Given the description of an element on the screen output the (x, y) to click on. 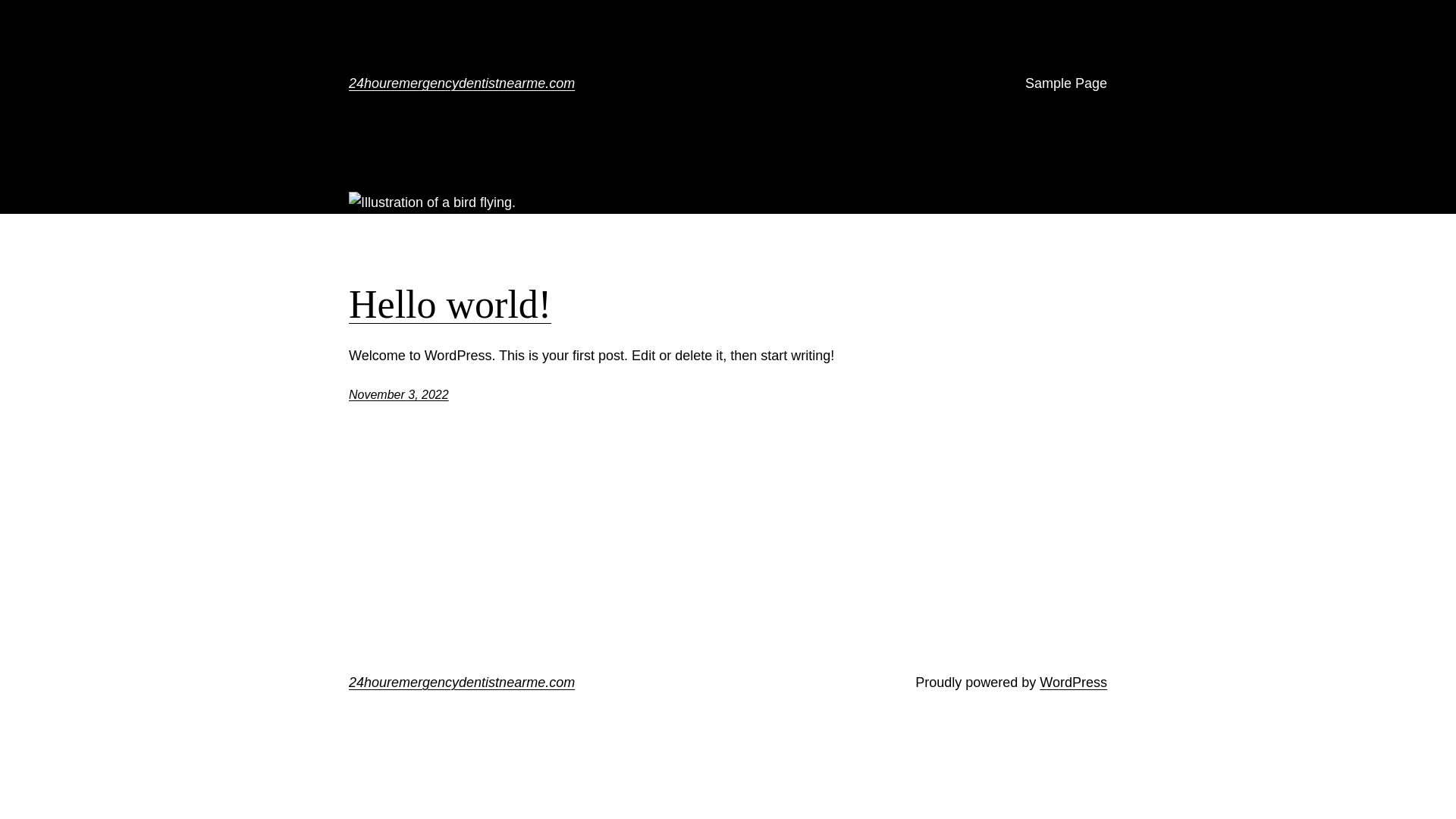
24houremergencydentistnearme.com Element type: text (461, 682)
Sample Page Element type: text (1066, 83)
November 3, 2022 Element type: text (398, 394)
24houremergencydentistnearme.com Element type: text (461, 83)
WordPress Element type: text (1073, 682)
Hello world! Element type: text (449, 304)
